Given the description of an element on the screen output the (x, y) to click on. 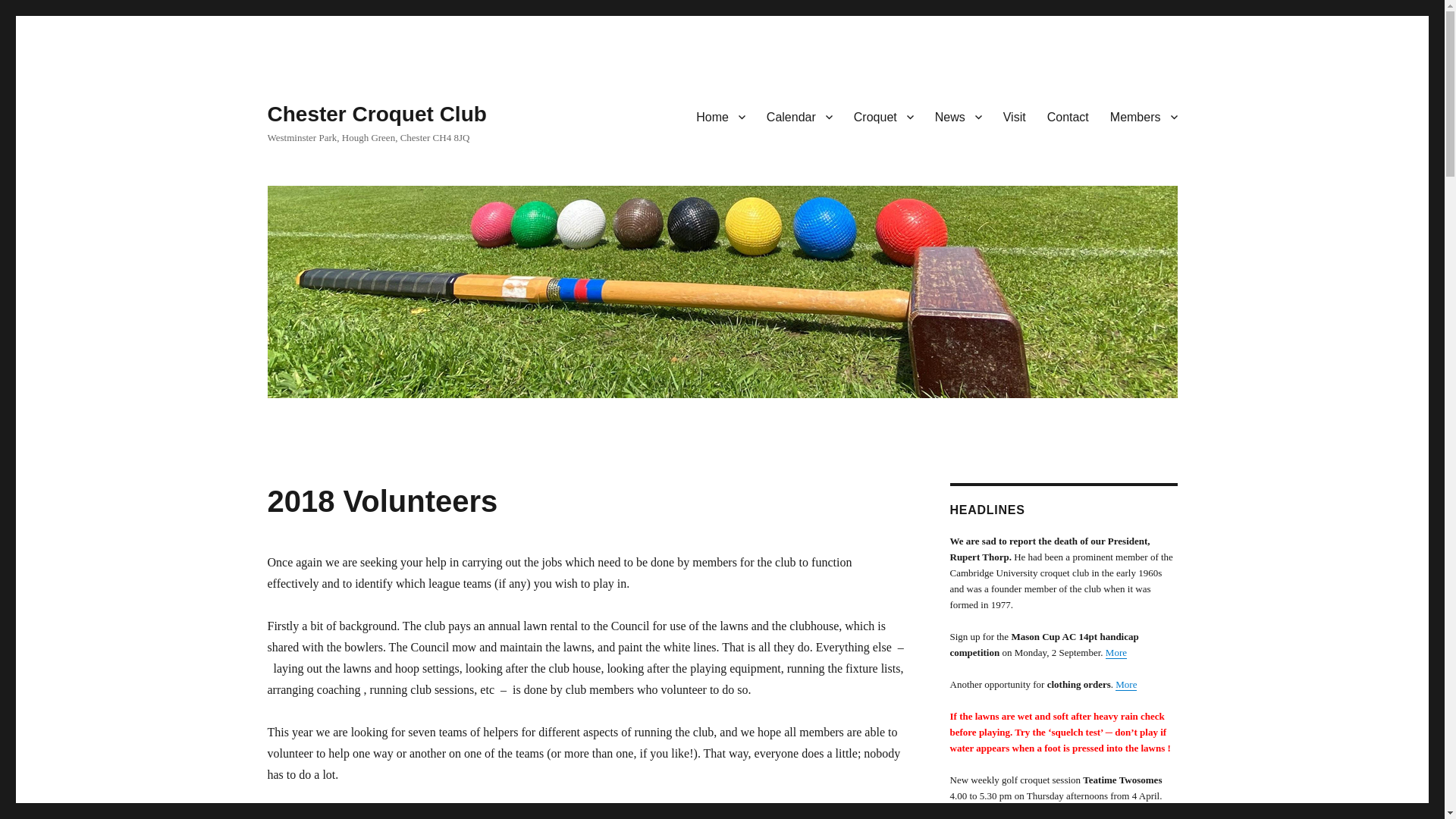
News (958, 116)
Home (720, 116)
Chester Croquet Club (376, 114)
Croquet (883, 116)
Calendar (799, 116)
